Given the description of an element on the screen output the (x, y) to click on. 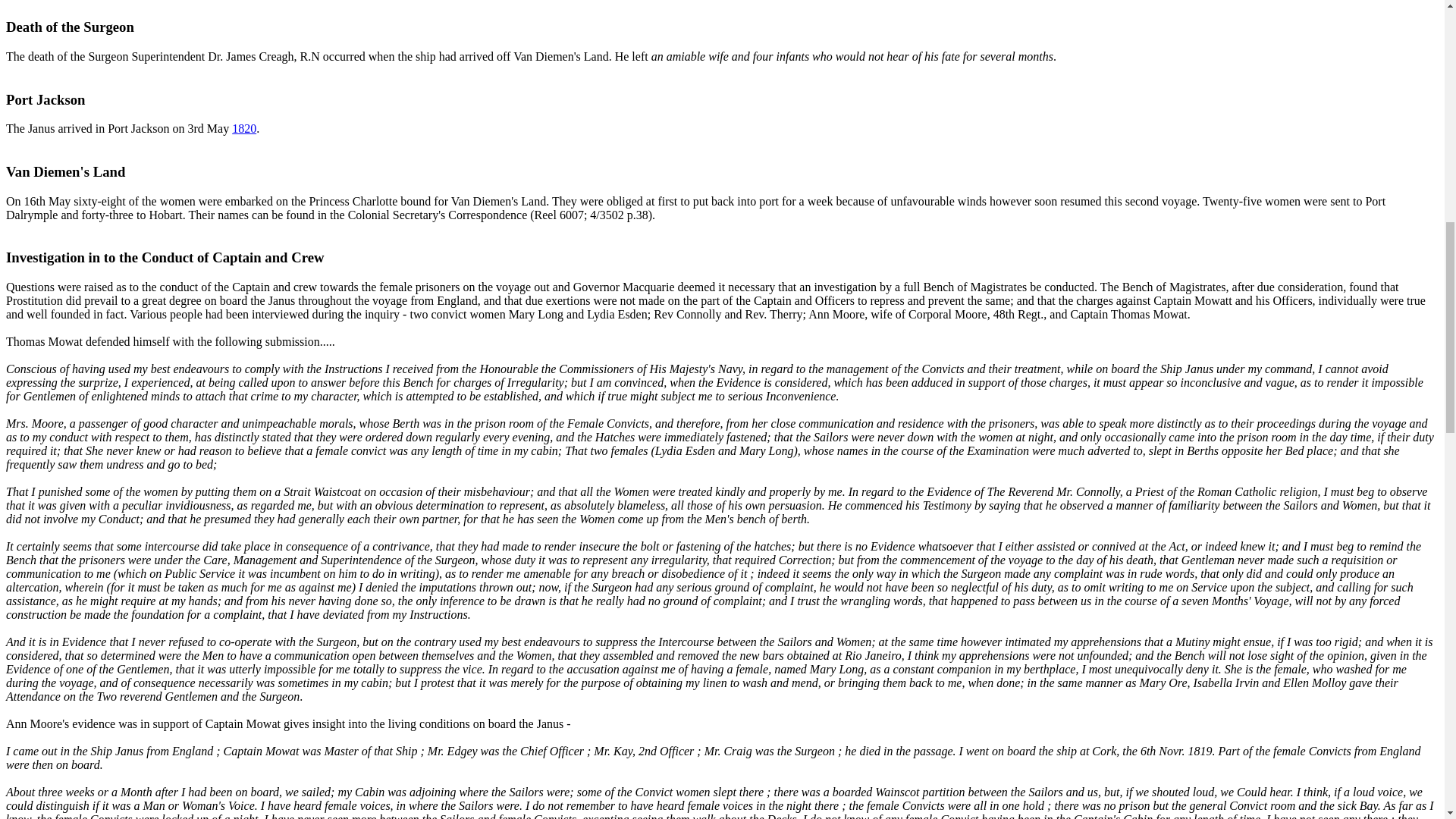
1820 (243, 128)
